Given the description of an element on the screen output the (x, y) to click on. 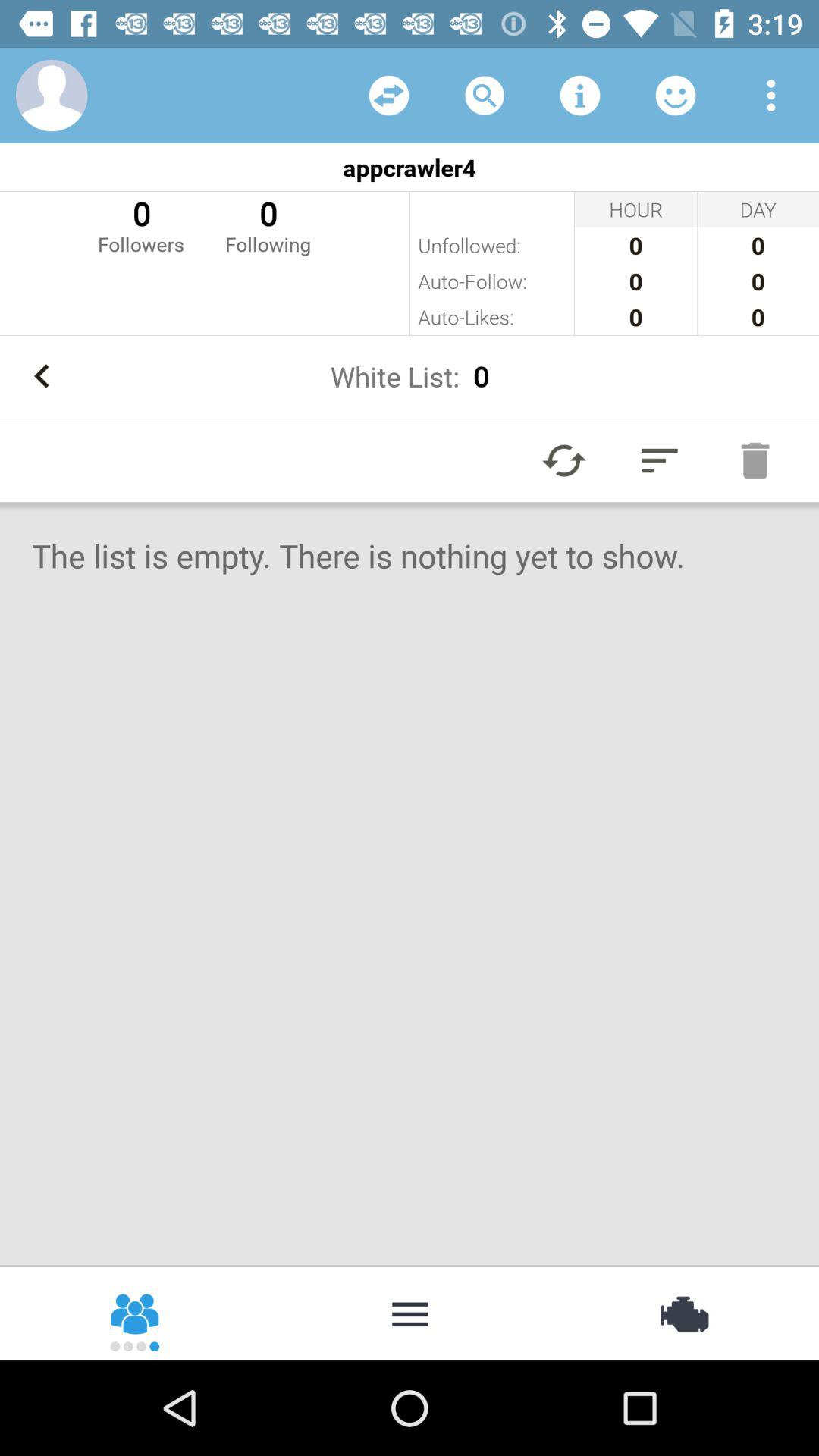
select icon above the the list is icon (755, 460)
